Given the description of an element on the screen output the (x, y) to click on. 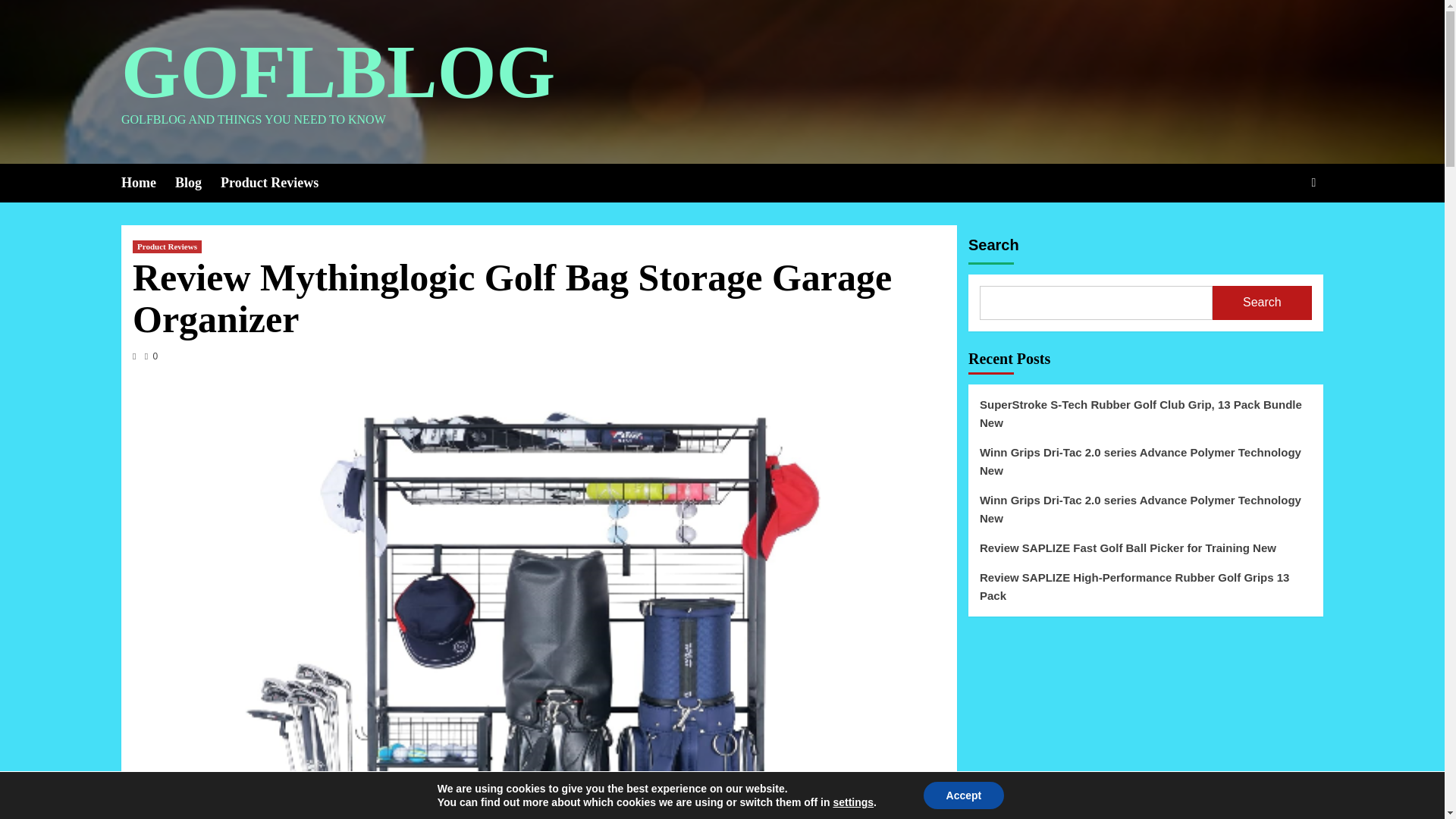
Product Reviews (279, 182)
GOFLBLOG (337, 71)
Search (1278, 229)
0 (150, 356)
Search (1313, 181)
Blog (197, 182)
Product Reviews (167, 246)
Home (147, 182)
